Given the description of an element on the screen output the (x, y) to click on. 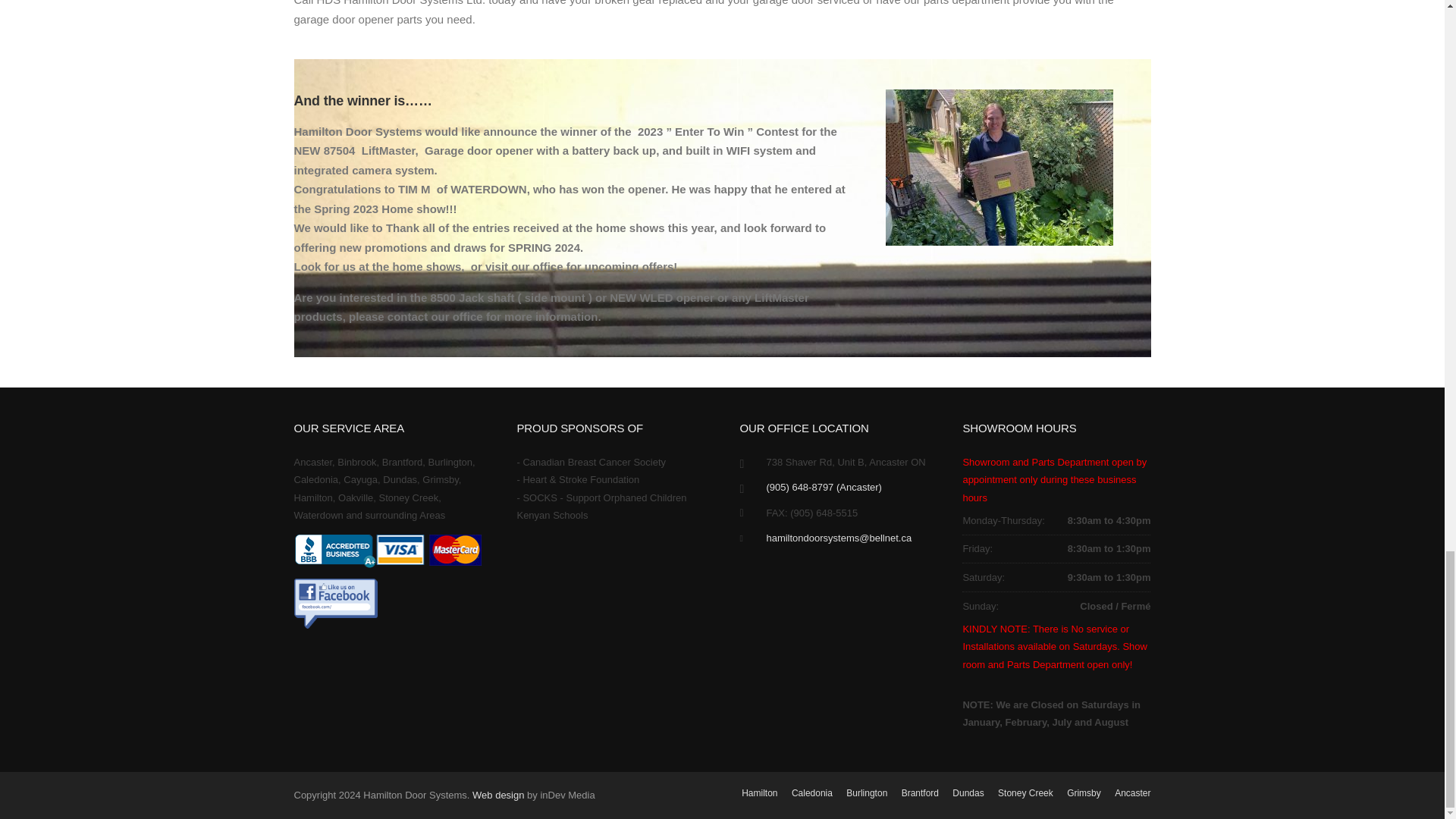
Hamilton (759, 792)
Burlington (865, 792)
Caledonia (812, 792)
Web design (497, 794)
